Given the description of an element on the screen output the (x, y) to click on. 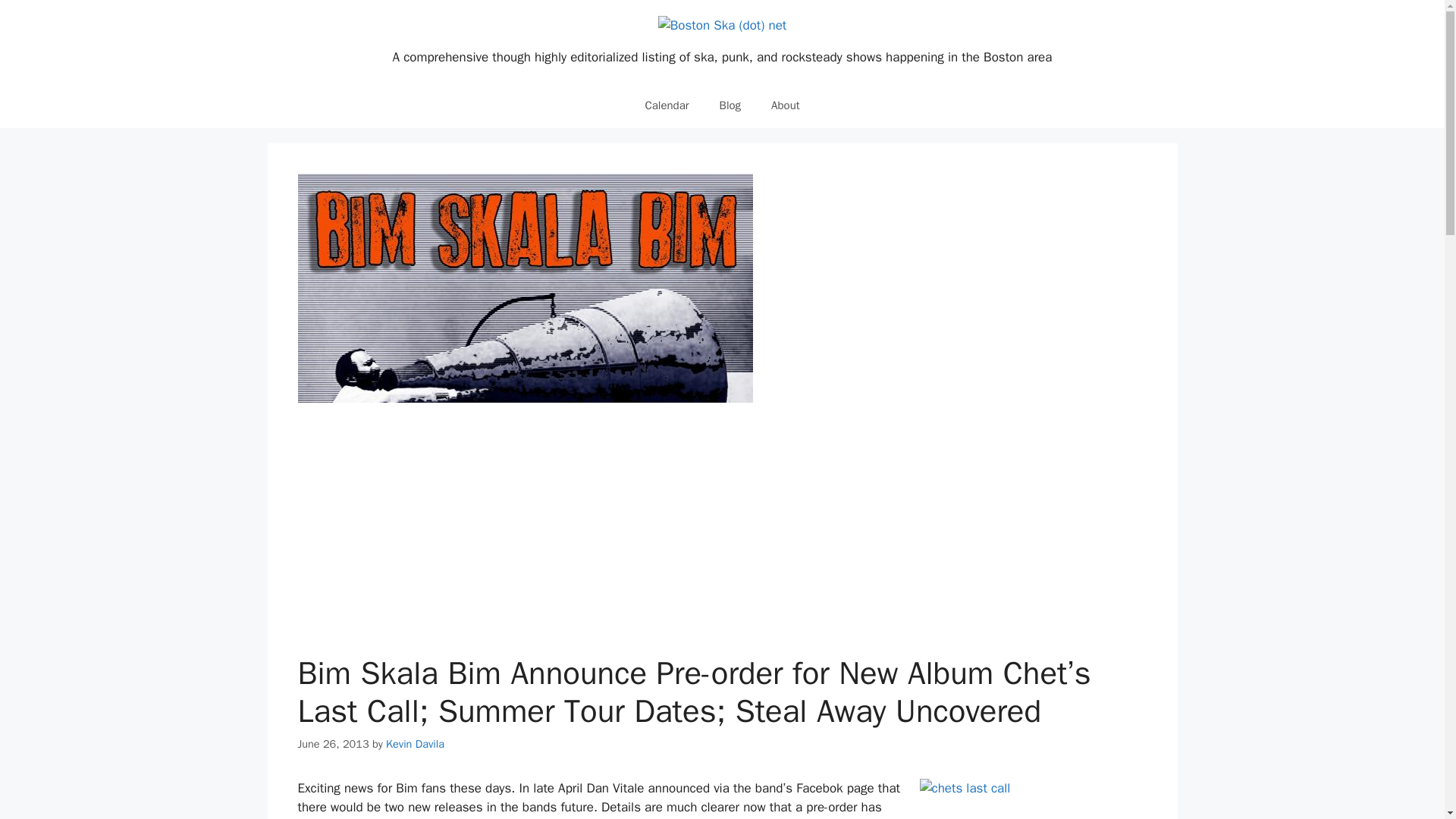
Kevin Davila (414, 744)
Calendar (665, 104)
Blog (729, 104)
View all posts by Kevin Davila (414, 744)
About (784, 104)
